Given the description of an element on the screen output the (x, y) to click on. 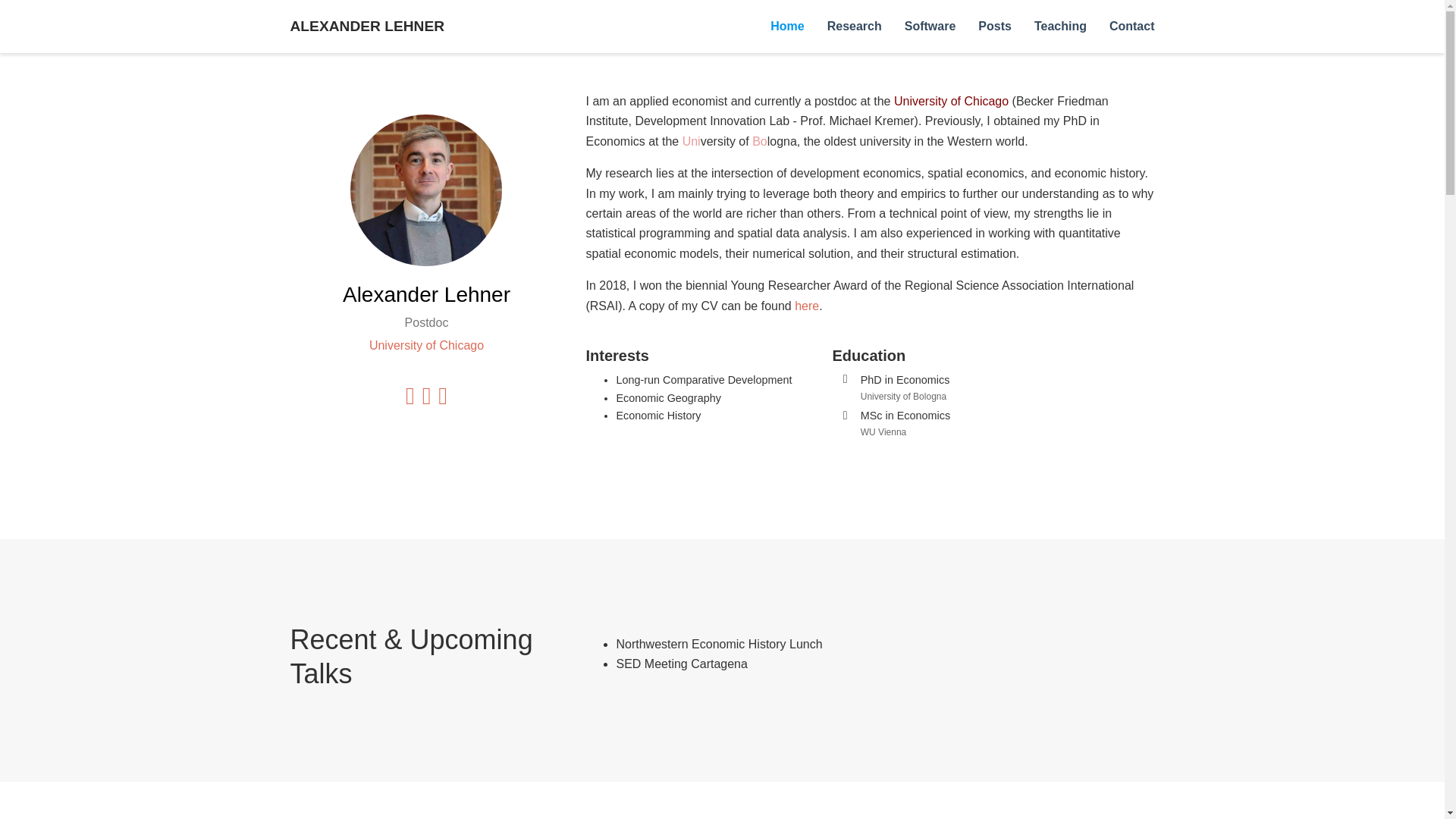
Contact (1131, 26)
University of Chicago (426, 345)
here (806, 305)
Software (930, 26)
ALEXANDER LEHNER (368, 26)
Research (854, 26)
Teaching (1060, 26)
Home (786, 26)
Posts (994, 26)
